Given the description of an element on the screen output the (x, y) to click on. 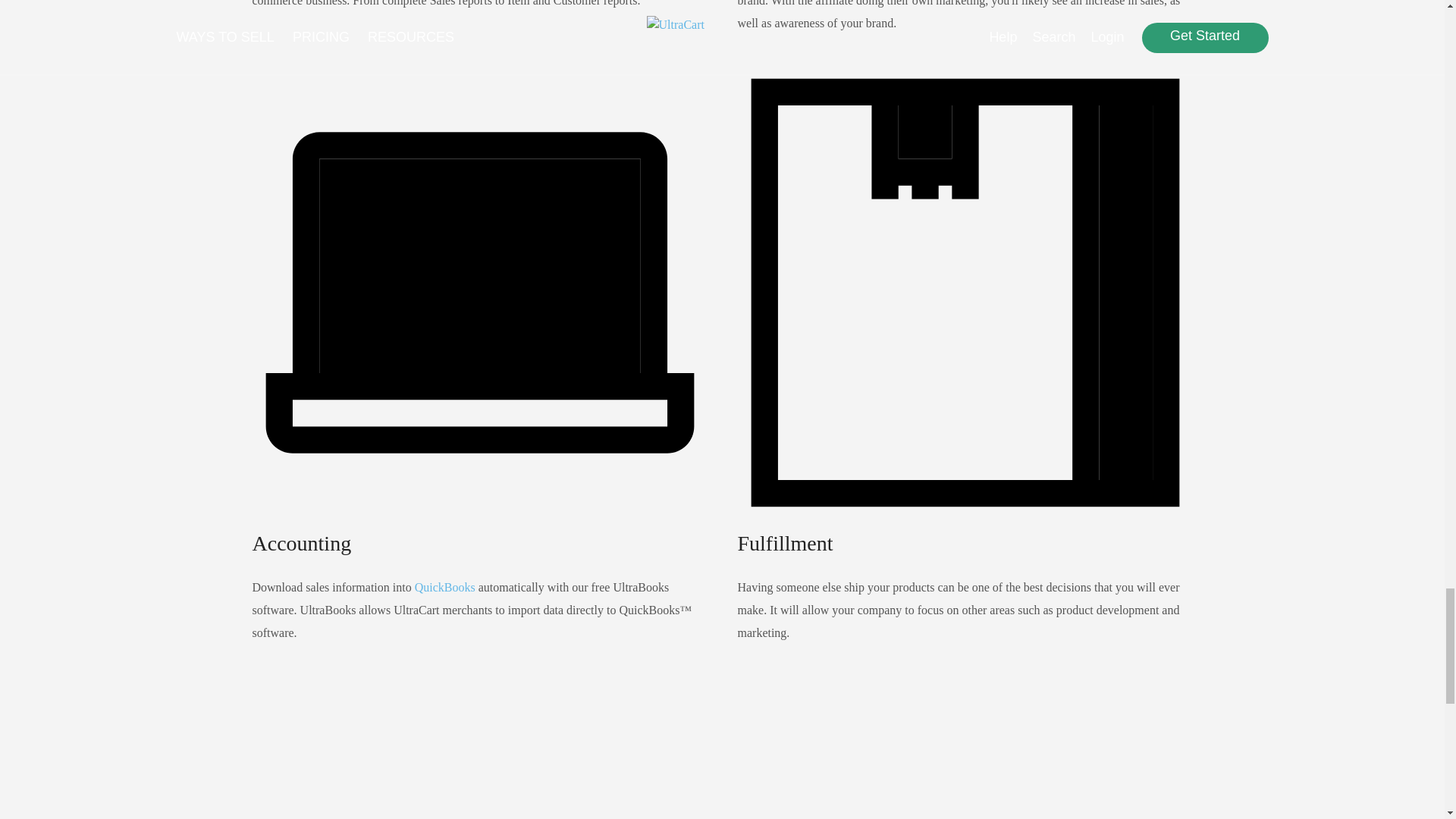
Intuit QuickBooks (445, 586)
